Given the description of an element on the screen output the (x, y) to click on. 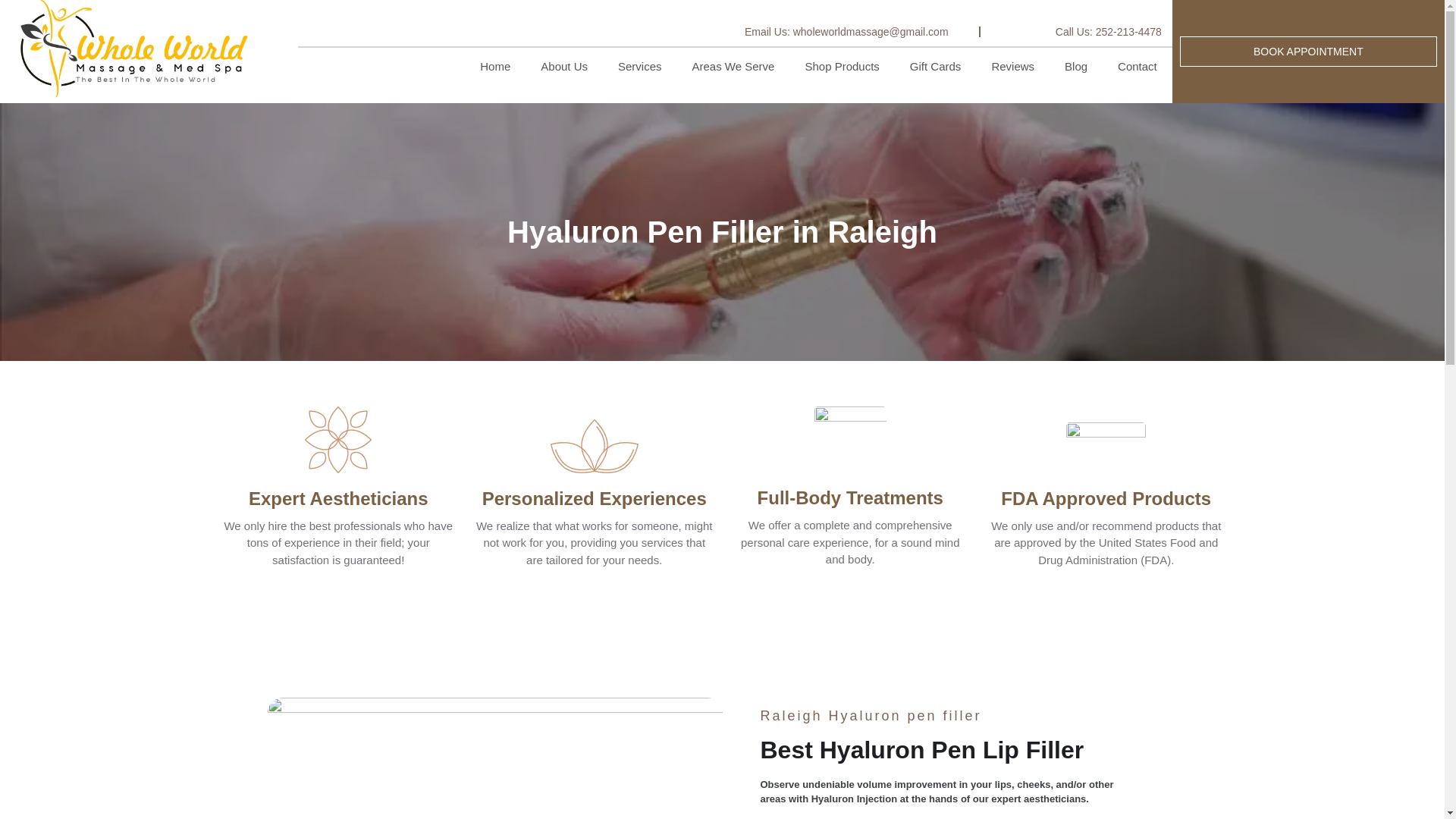
Home (494, 66)
About Us (563, 66)
Services (639, 66)
Gift Cards (935, 66)
Contact (1137, 66)
Reviews (1012, 66)
Shop Products (841, 66)
Areas We Serve (733, 66)
Blog (1075, 66)
